Given the description of an element on the screen output the (x, y) to click on. 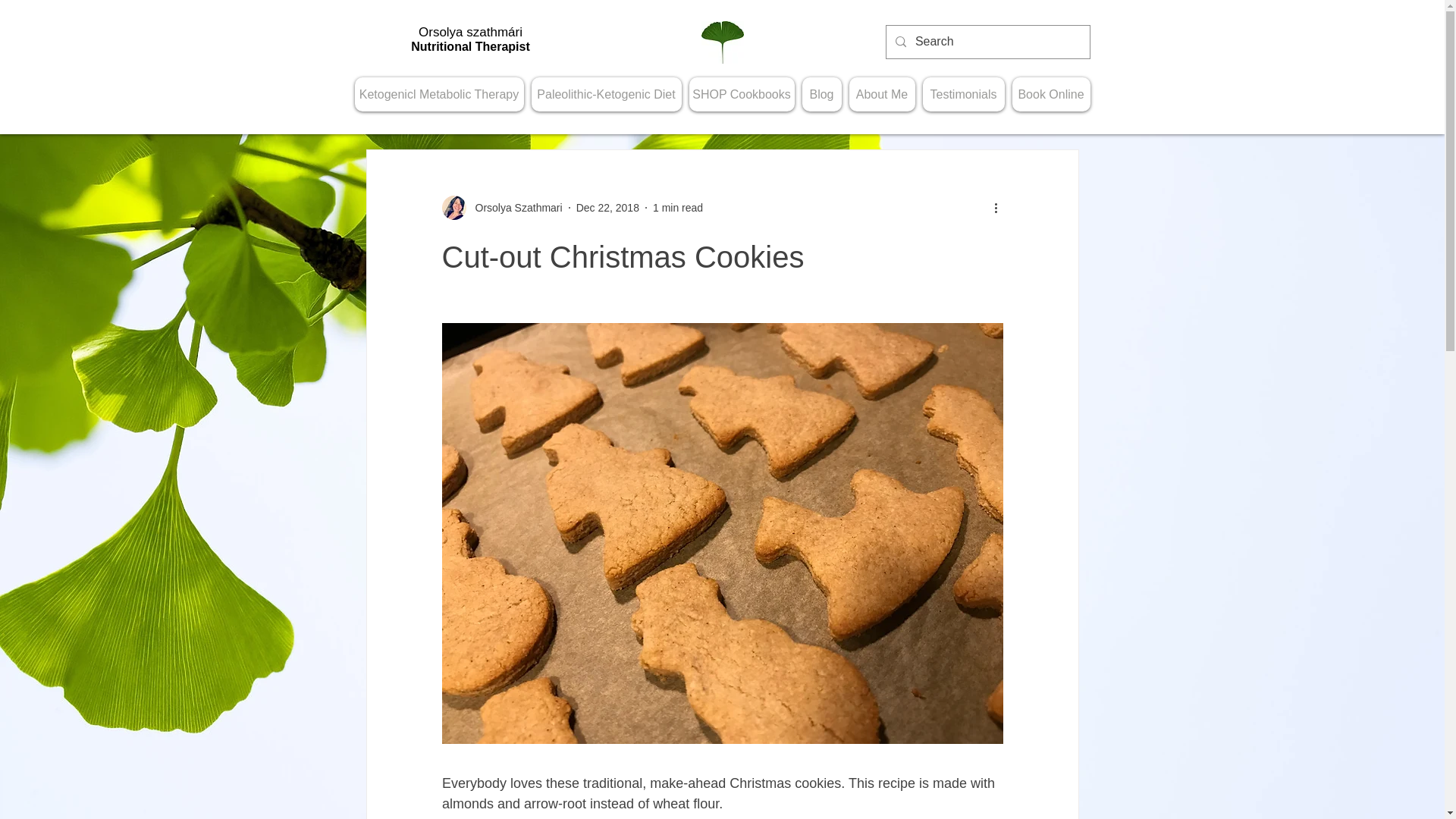
About Me (881, 93)
1 min read (677, 207)
Testimonials (962, 93)
Ketogenicl Metabolic Therapy (439, 93)
Blog (821, 93)
Nutritional Therapist (469, 46)
Orsolya Szathmari (513, 207)
SHOP Cookbooks (740, 93)
Paleolithic-Ketogenic Diet (606, 93)
Dec 22, 2018 (607, 207)
Home (721, 42)
Book Online (1050, 93)
